Given the description of an element on the screen output the (x, y) to click on. 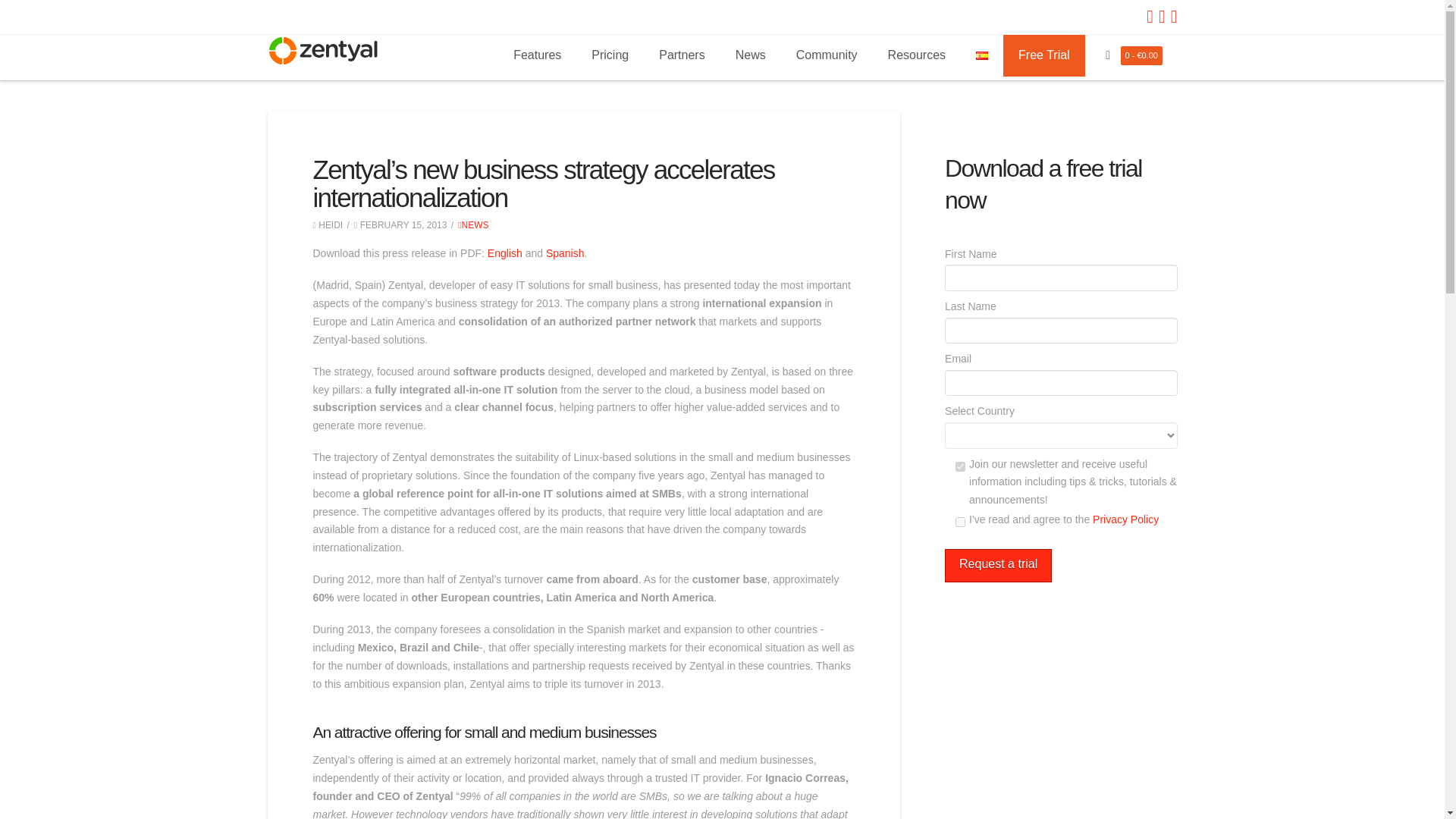
Partners (681, 55)
see privacy policy (1125, 519)
Community (826, 55)
Pricing (609, 55)
Free Trial (1043, 55)
Request a trial (997, 565)
Spanish (565, 253)
Cart (1108, 55)
Features (536, 55)
NEWS (472, 225)
1 (960, 521)
Resources (916, 55)
News (750, 55)
Privacy Policy (1125, 519)
English (504, 253)
